Given the description of an element on the screen output the (x, y) to click on. 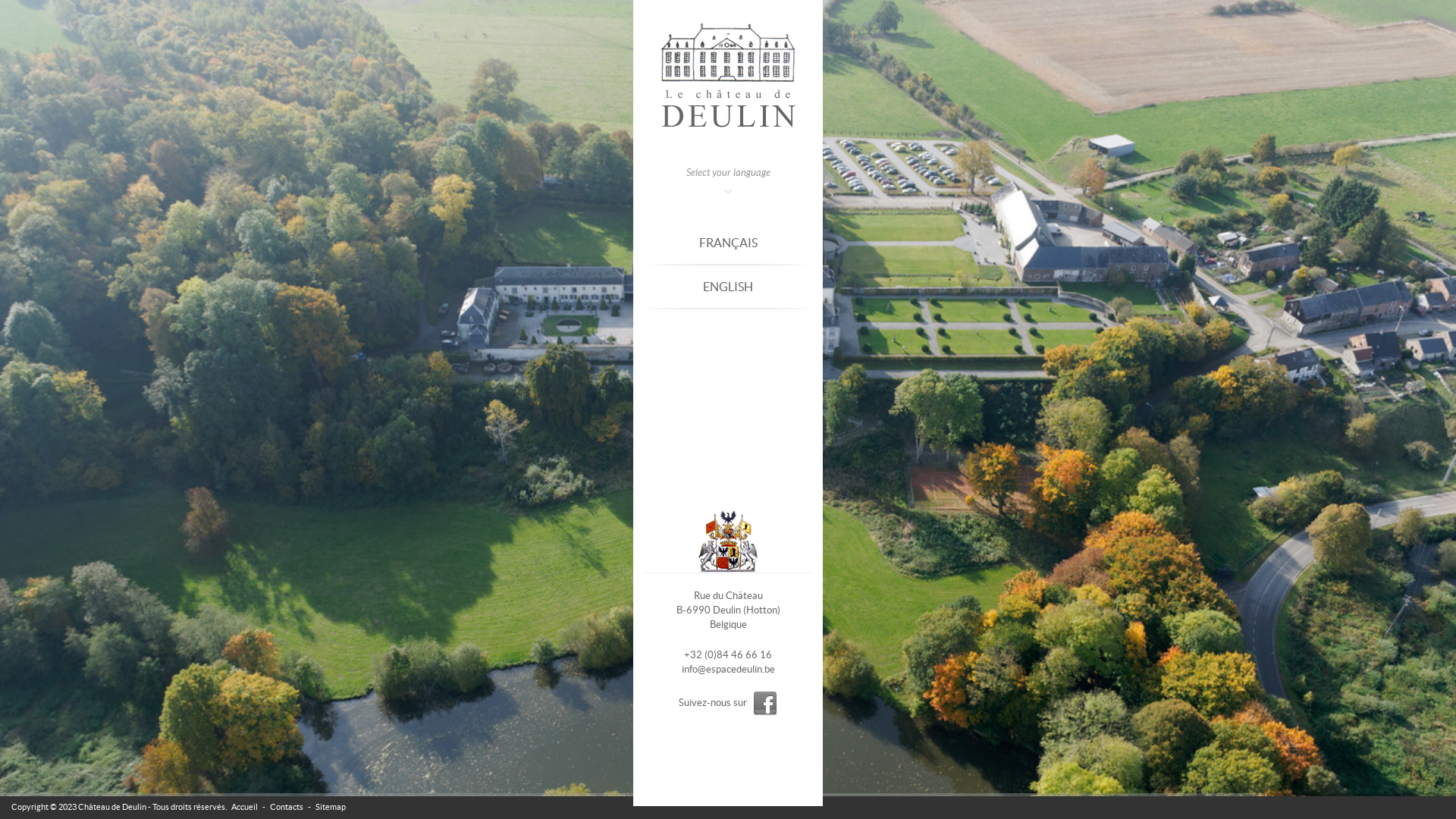
Accueil Element type: text (244, 806)
Contacts Element type: text (286, 806)
ENGLISH Element type: text (727, 287)
Sitemap Element type: text (330, 806)
info@espacedeulin.be Element type: text (727, 668)
